Given the description of an element on the screen output the (x, y) to click on. 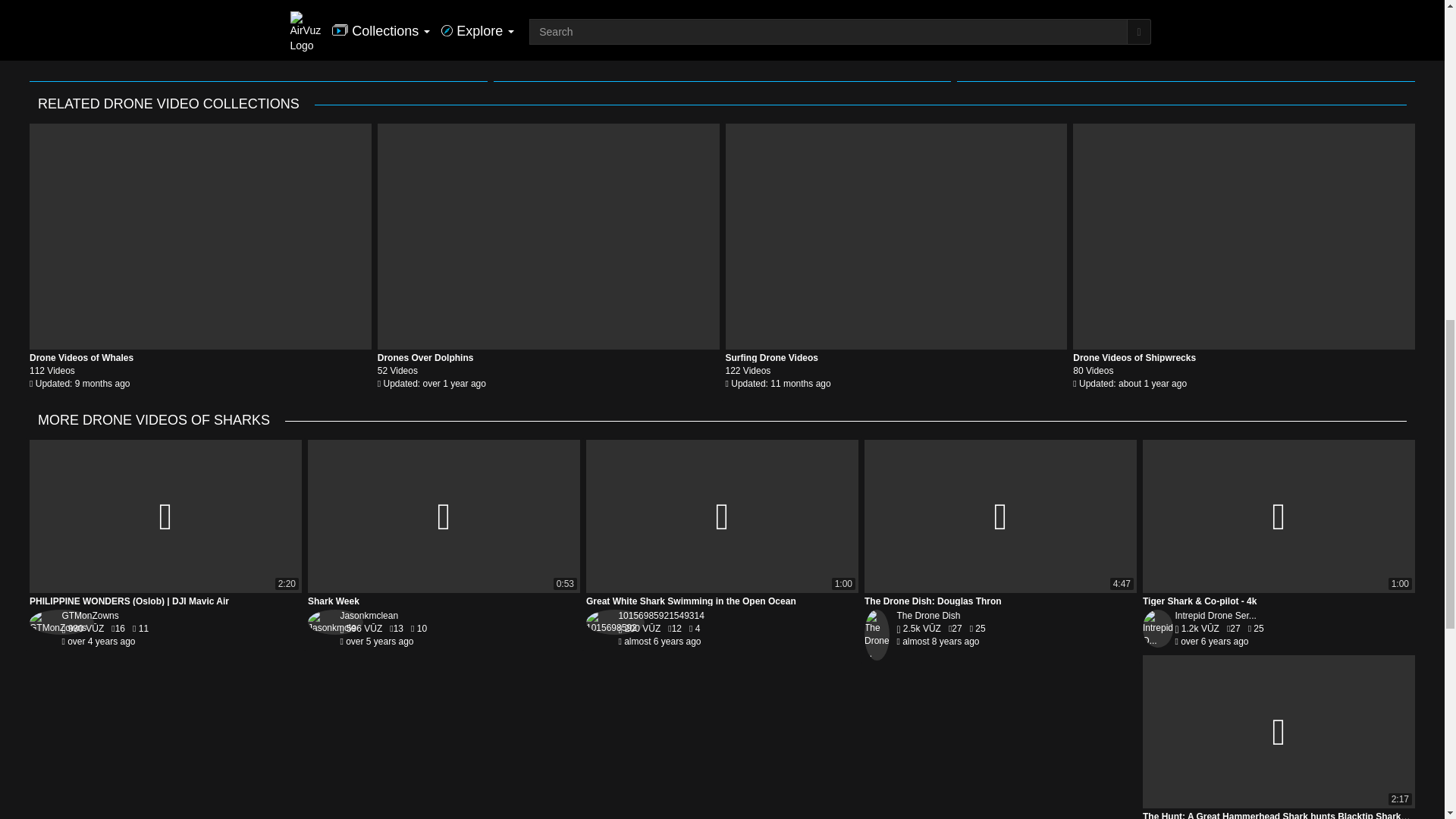
2:20 (165, 515)
Shark Week (443, 515)
GTMonZowns (89, 615)
Drone Videos of Shipwrecks (1244, 235)
Drones Over Dolphins (425, 357)
10156985921549314 (660, 615)
Drone Videos of Whales (81, 357)
The Drone Dish (927, 615)
Jasonkmclean (368, 615)
Surfing Drone Videos (896, 235)
